Given the description of an element on the screen output the (x, y) to click on. 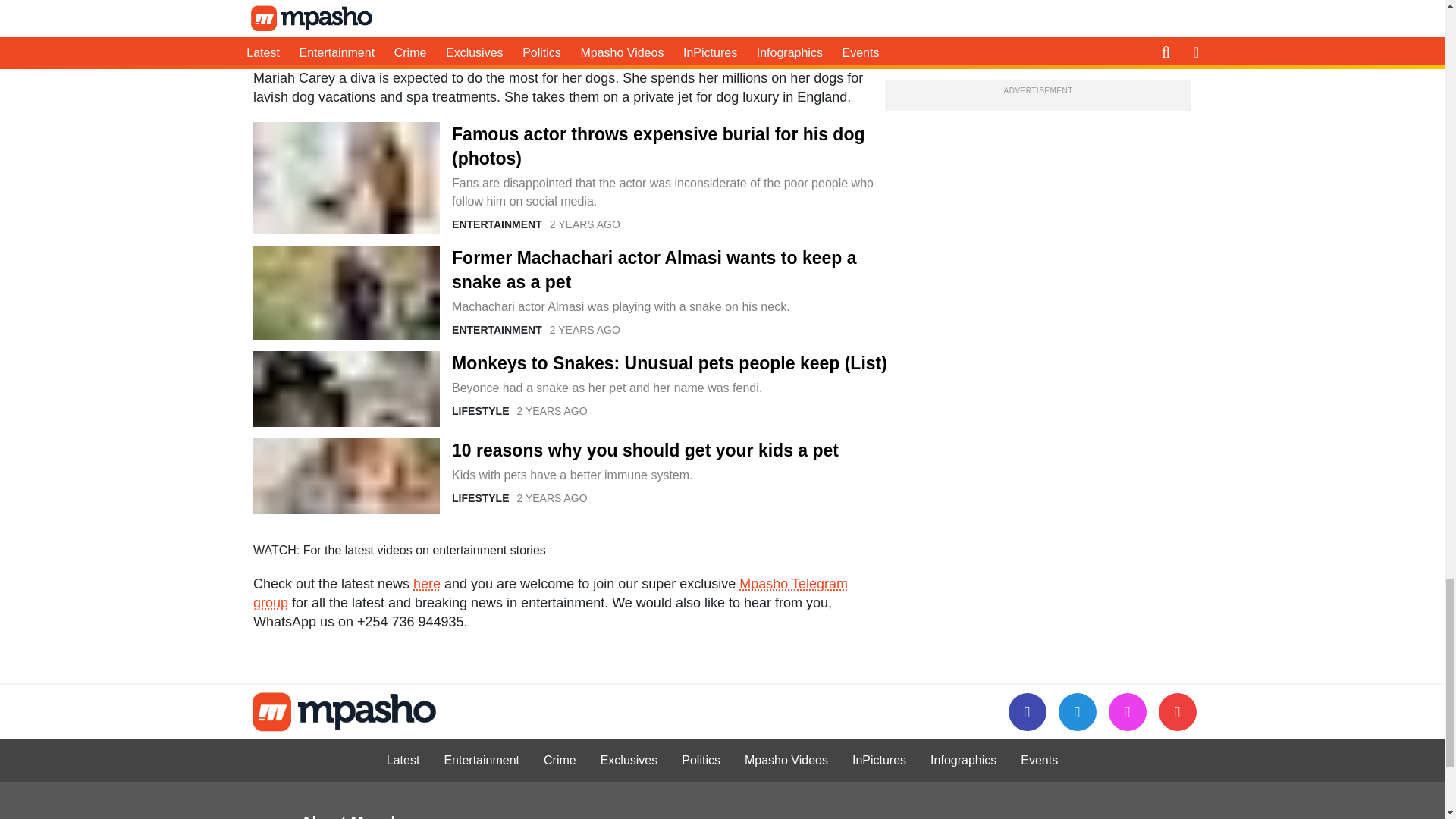
Mpasho Telegram group (550, 593)
here (427, 583)
